Given the description of an element on the screen output the (x, y) to click on. 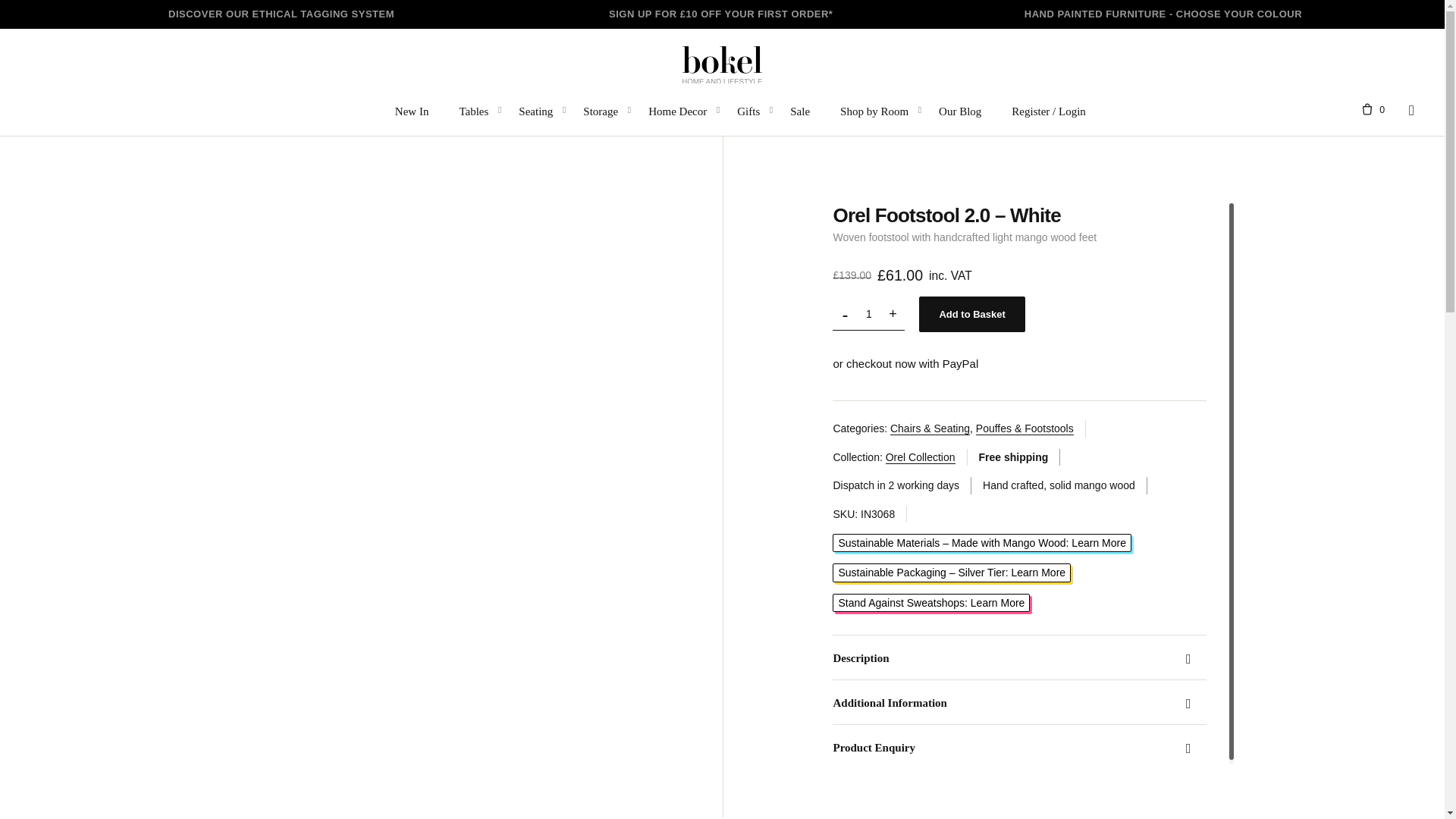
New In (412, 110)
Tables (473, 110)
Seating (535, 110)
0 (1368, 109)
Qty (868, 313)
HAND PAINTED FURNITURE - CHOOSE YOUR COLOUR (1162, 14)
DISCOVER OUR ETHICAL TAGGING SYSTEM (280, 14)
1 (868, 313)
